Given the description of an element on the screen output the (x, y) to click on. 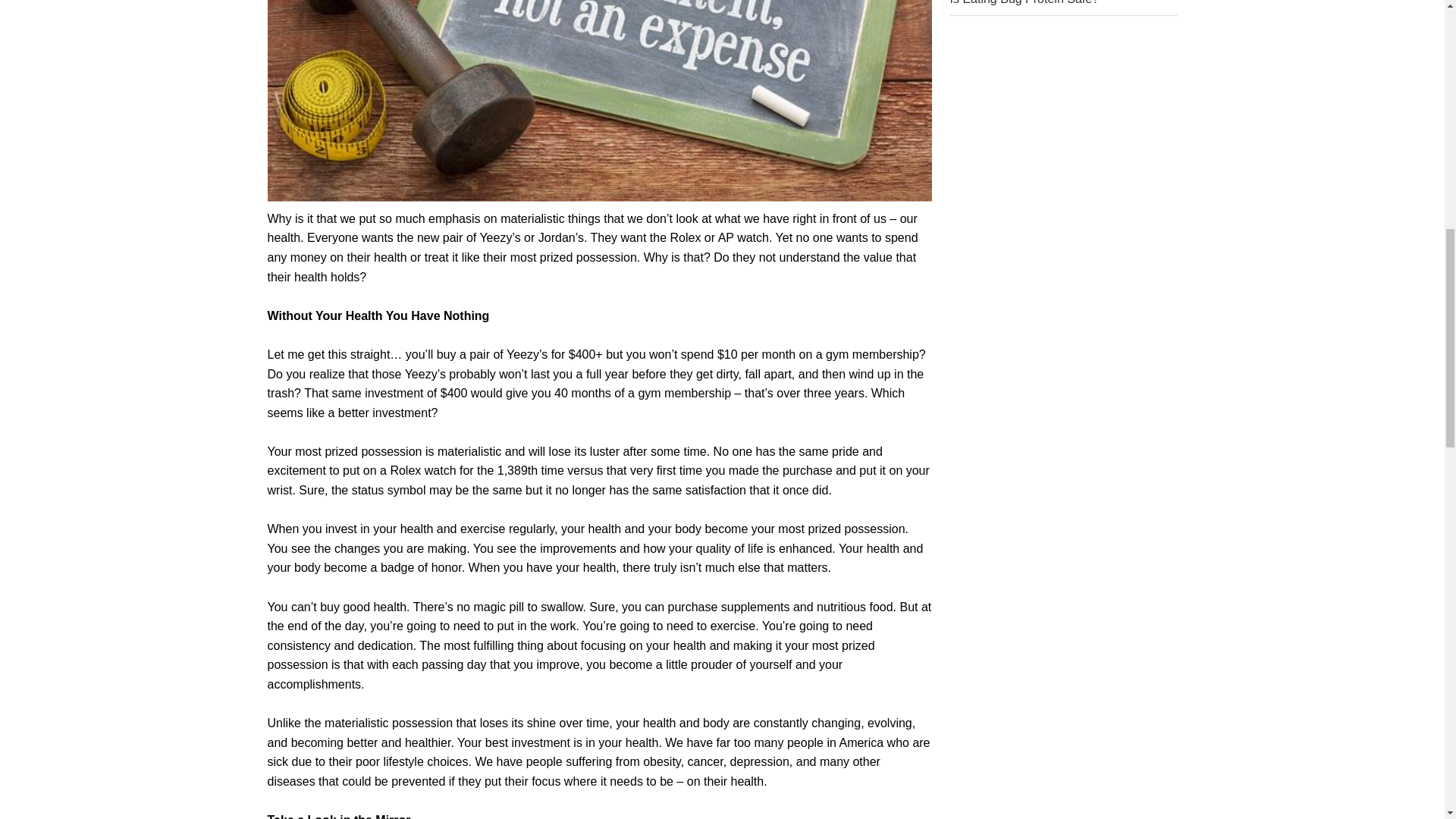
Is Eating Bug Protein Safe? (1024, 2)
Is Eating Bug Protein Safe? (1024, 2)
Why Is Your Health Not Your Most Prized Possession? (598, 100)
